Given the description of an element on the screen output the (x, y) to click on. 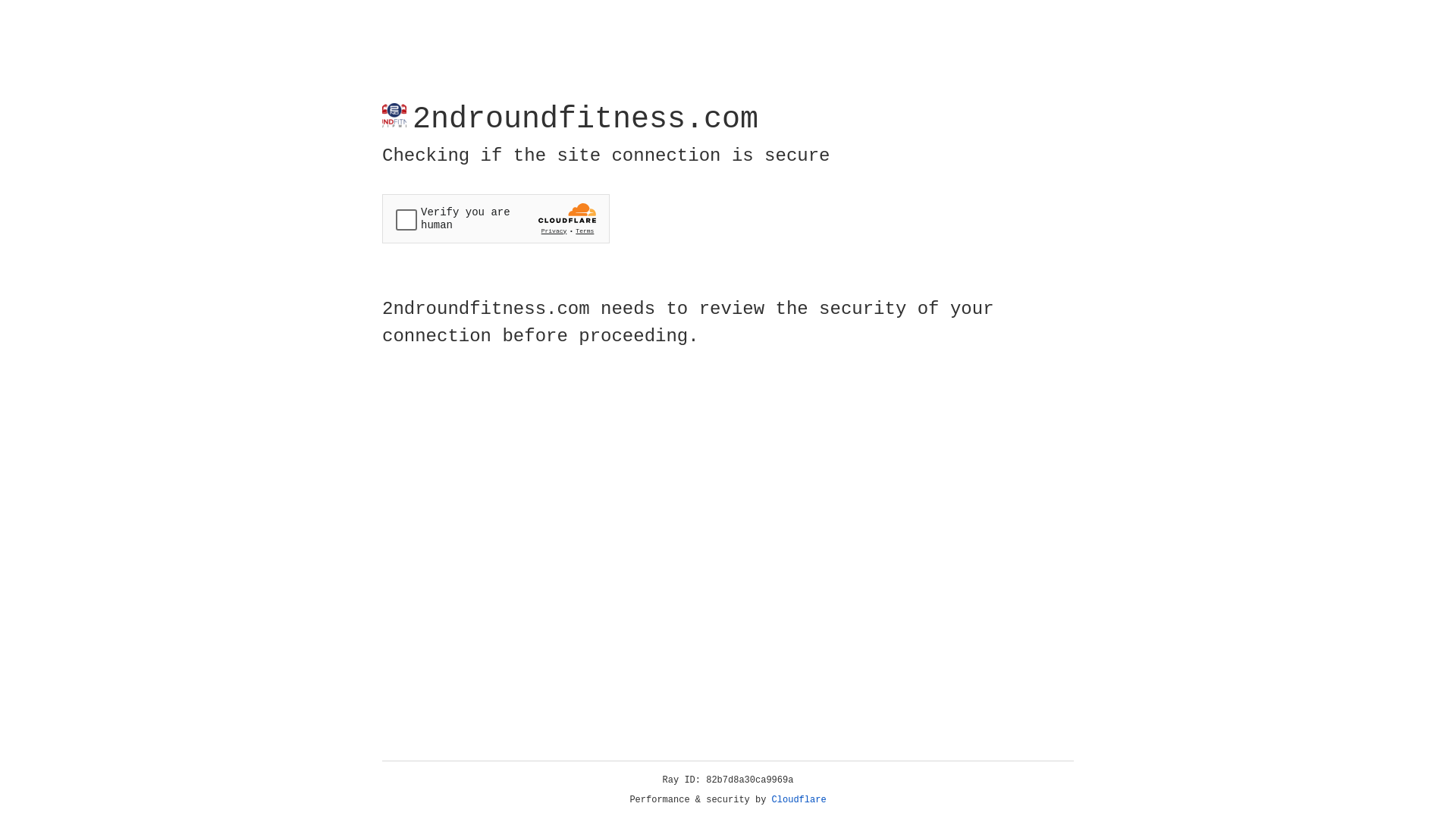
Widget containing a Cloudflare security challenge Element type: hover (495, 218)
Cloudflare Element type: text (798, 799)
